Given the description of an element on the screen output the (x, y) to click on. 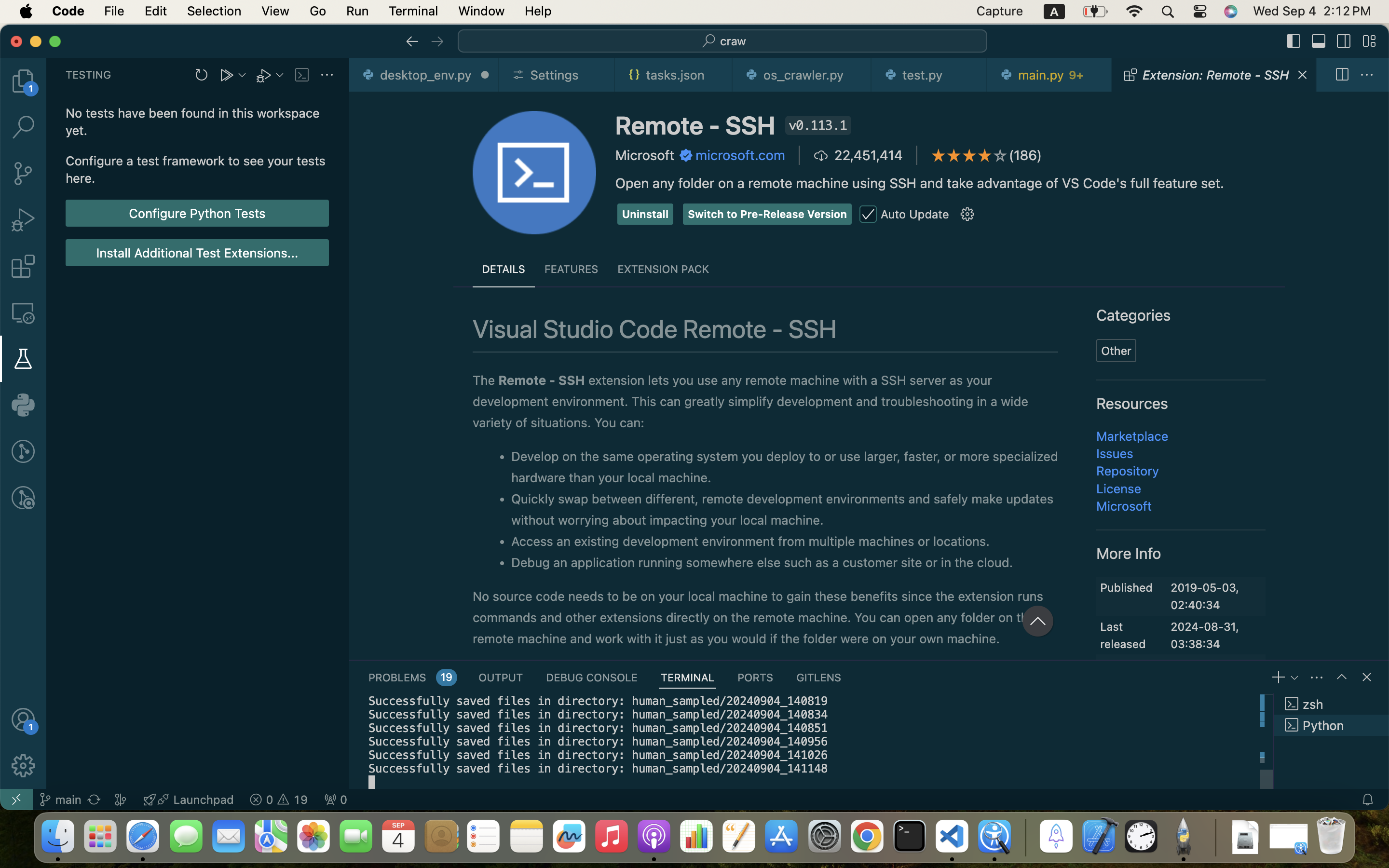
0 test.py   Element type: AXRadioButton (929, 74)
Issues Element type: AXStaticText (1114, 453)
microsoft.com Element type: AXStaticText (740, 154)
22,451,414  Element type: AXGroup (857, 154)
Repository Element type: AXStaticText (1127, 470)
